Given the description of an element on the screen output the (x, y) to click on. 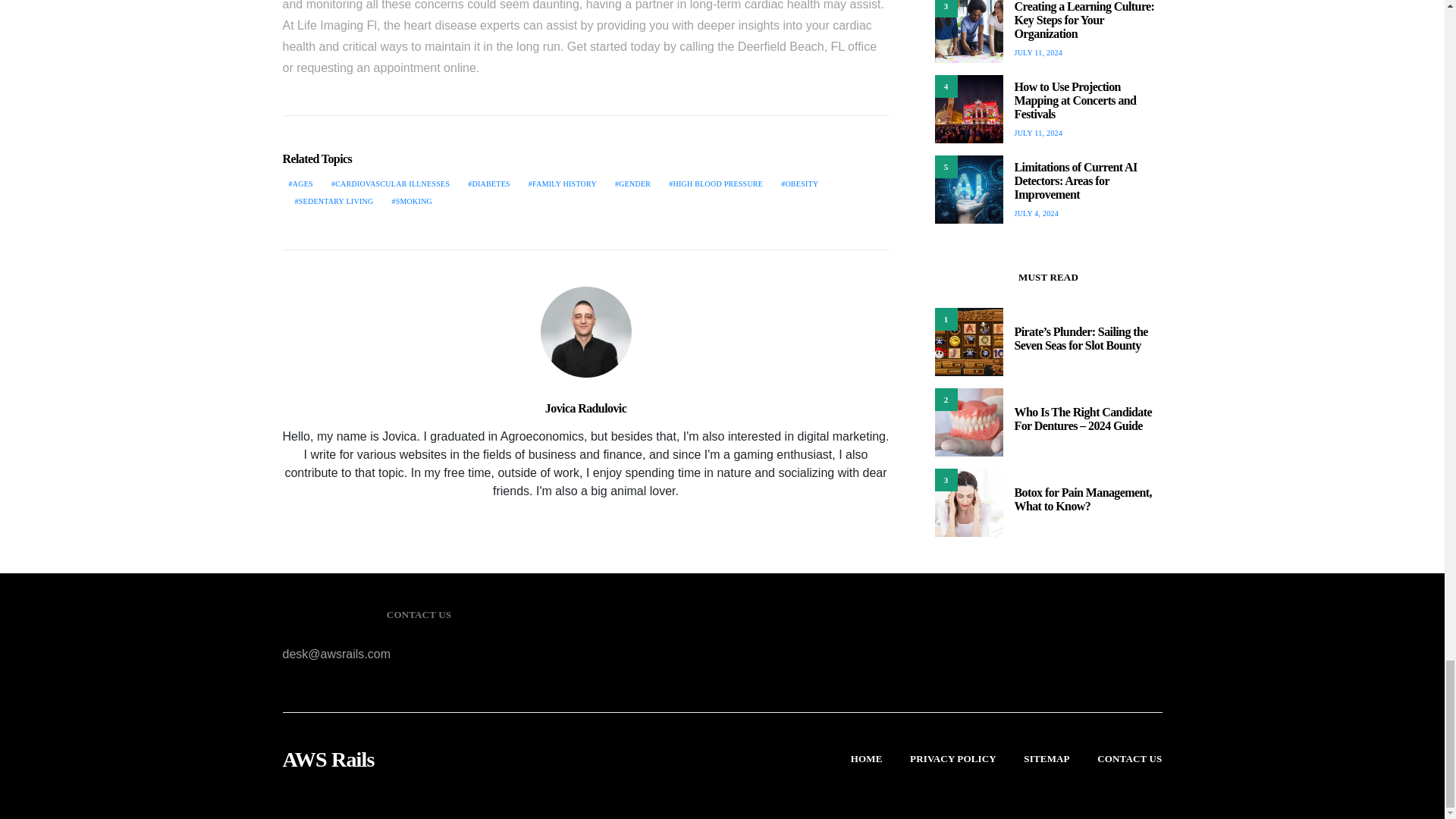
OBESITY (799, 183)
SEDENTARY LIVING (333, 201)
SMOKING (411, 201)
CARDIOVASCULAR ILLNESSES (389, 183)
DIABETES (488, 183)
Jovica Radulovic (585, 408)
HIGH BLOOD PRESSURE (715, 183)
AGES (300, 183)
FAMILY HISTORY (562, 183)
GENDER (632, 183)
